Given the description of an element on the screen output the (x, y) to click on. 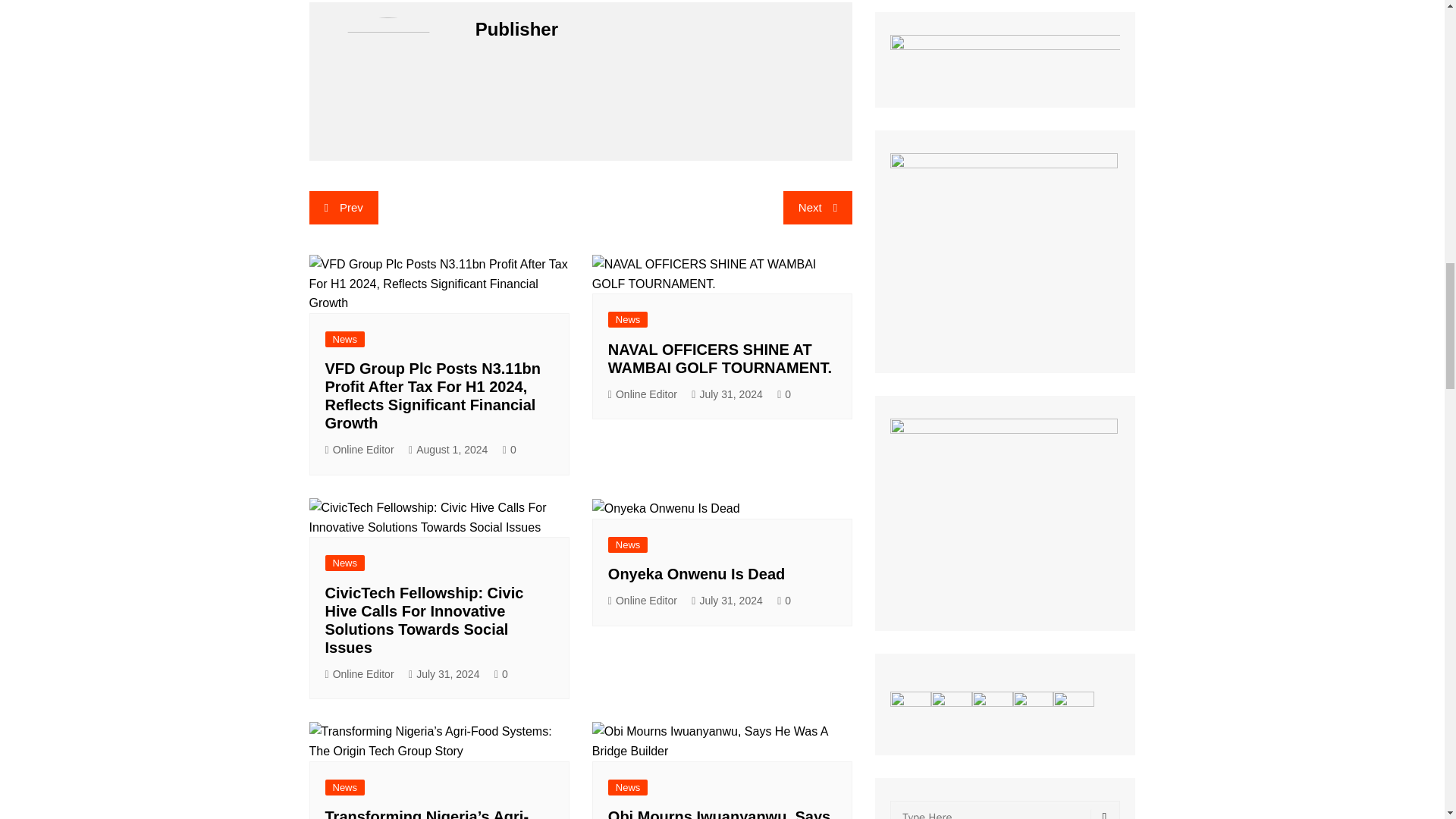
From All of Us (1003, 513)
